Given the description of an element on the screen output the (x, y) to click on. 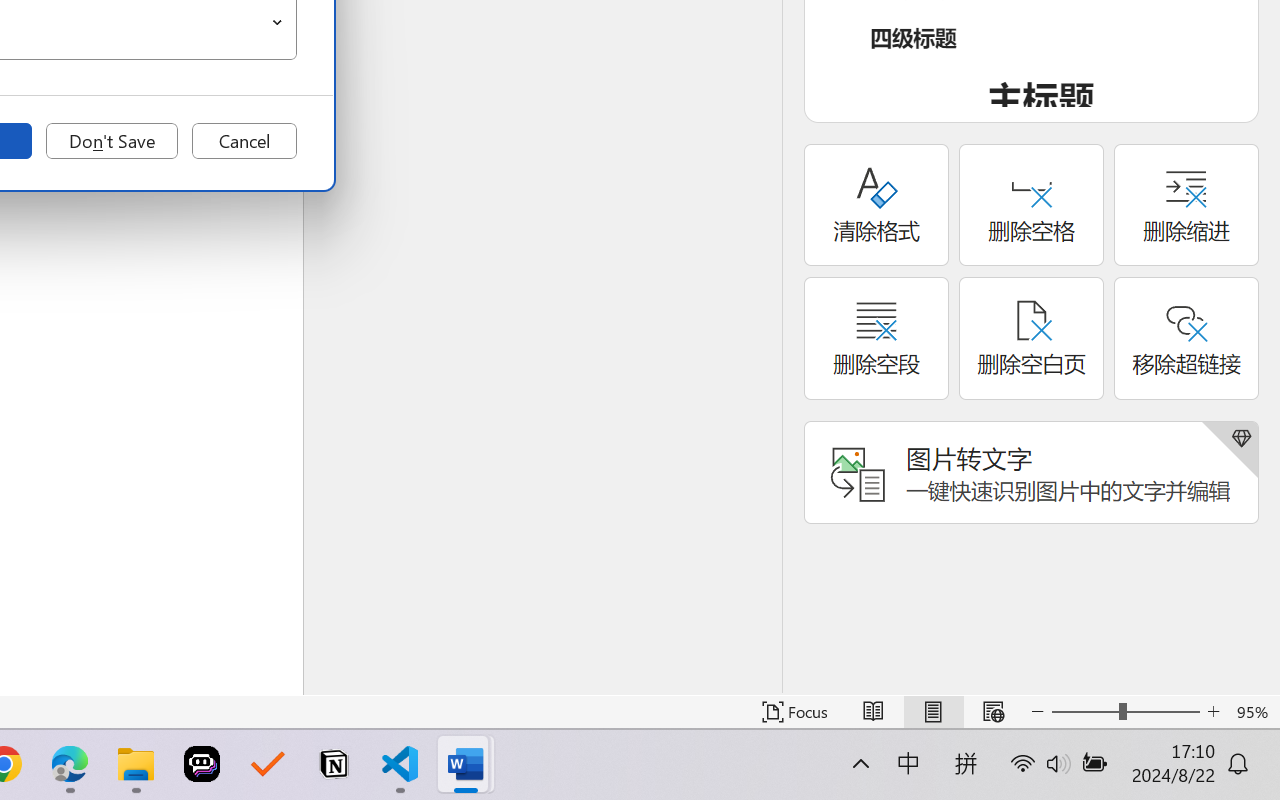
Zoom 95% (1253, 712)
